Given the description of an element on the screen output the (x, y) to click on. 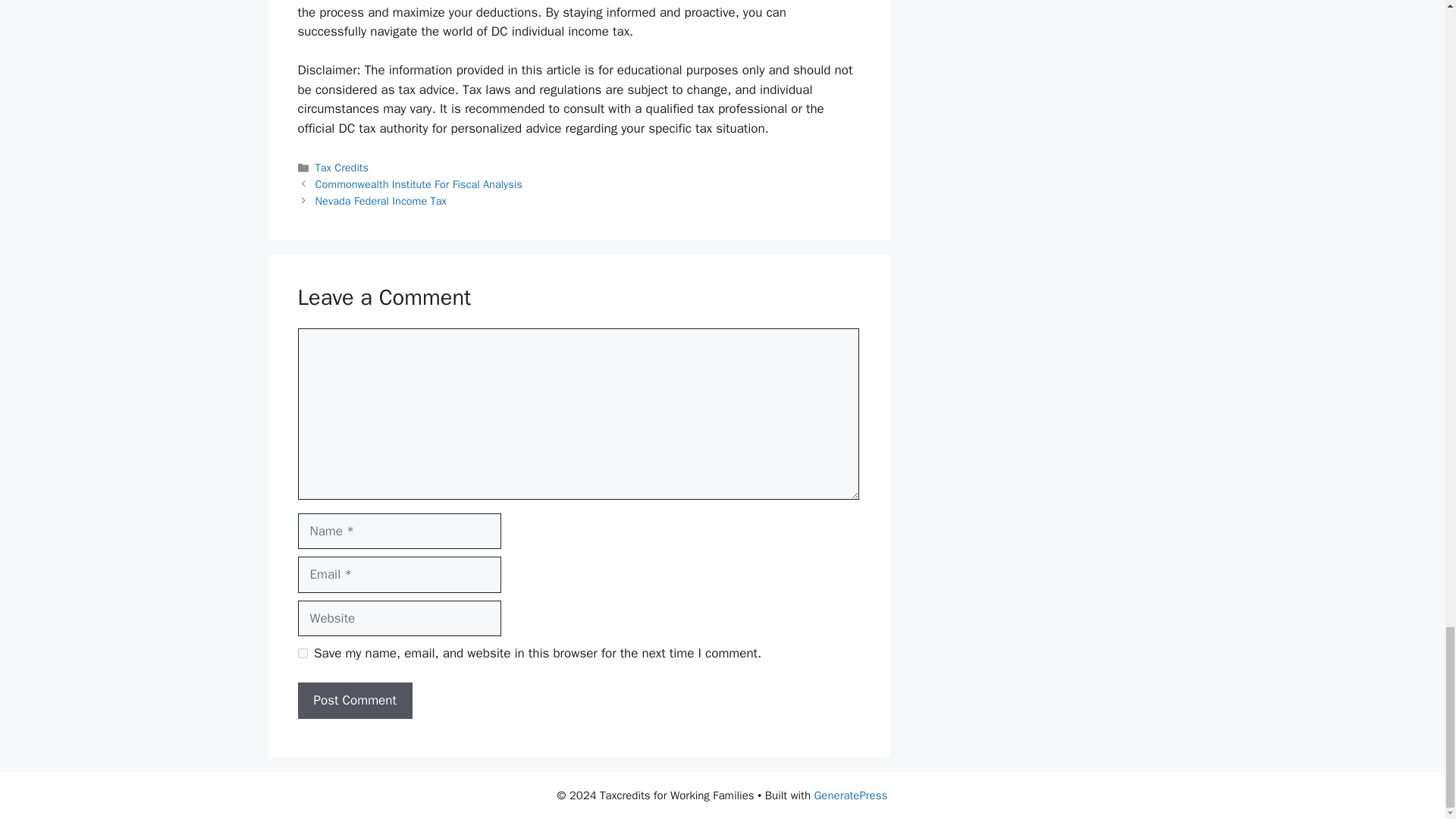
GeneratePress (849, 795)
yes (302, 653)
Commonwealth Institute For Fiscal Analysis (418, 183)
Tax Credits (341, 167)
Post Comment (354, 700)
Nevada Federal Income Tax (380, 201)
Post Comment (354, 700)
